Given the description of an element on the screen output the (x, y) to click on. 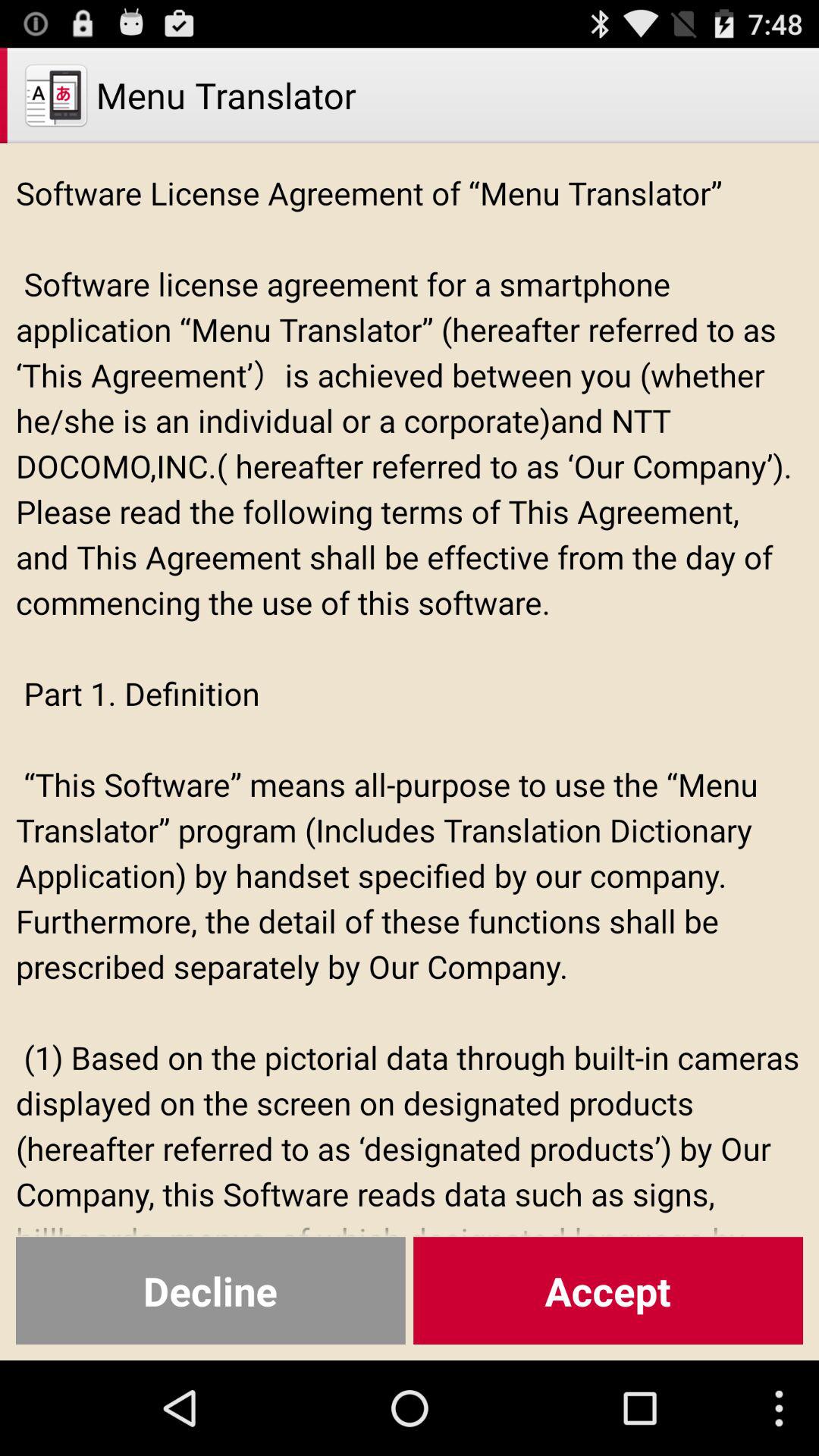
select decline item (210, 1290)
